Given the description of an element on the screen output the (x, y) to click on. 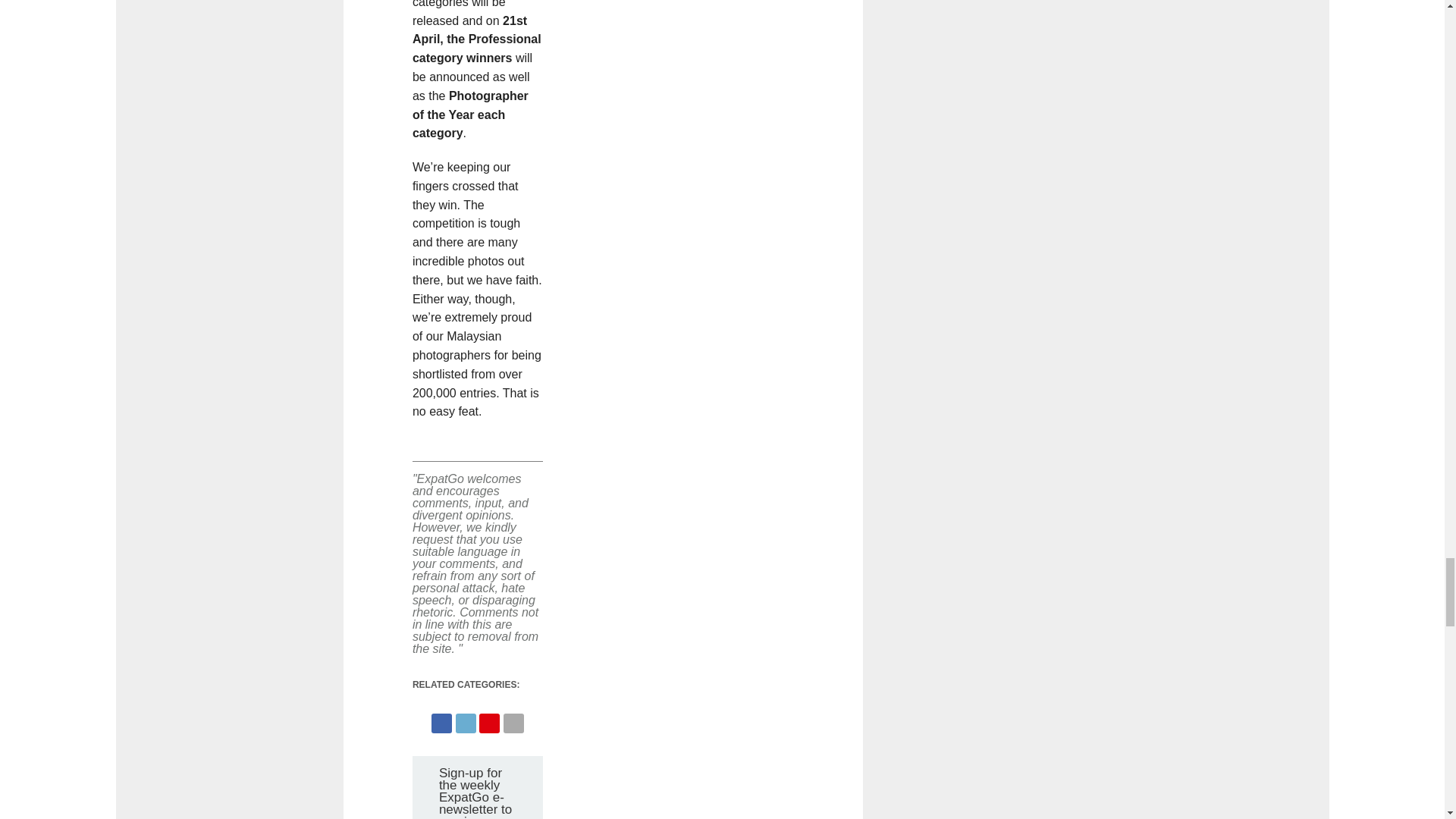
Pin This Post (489, 718)
Tweet This Post (465, 718)
Share on Facebook (440, 718)
